Given the description of an element on the screen output the (x, y) to click on. 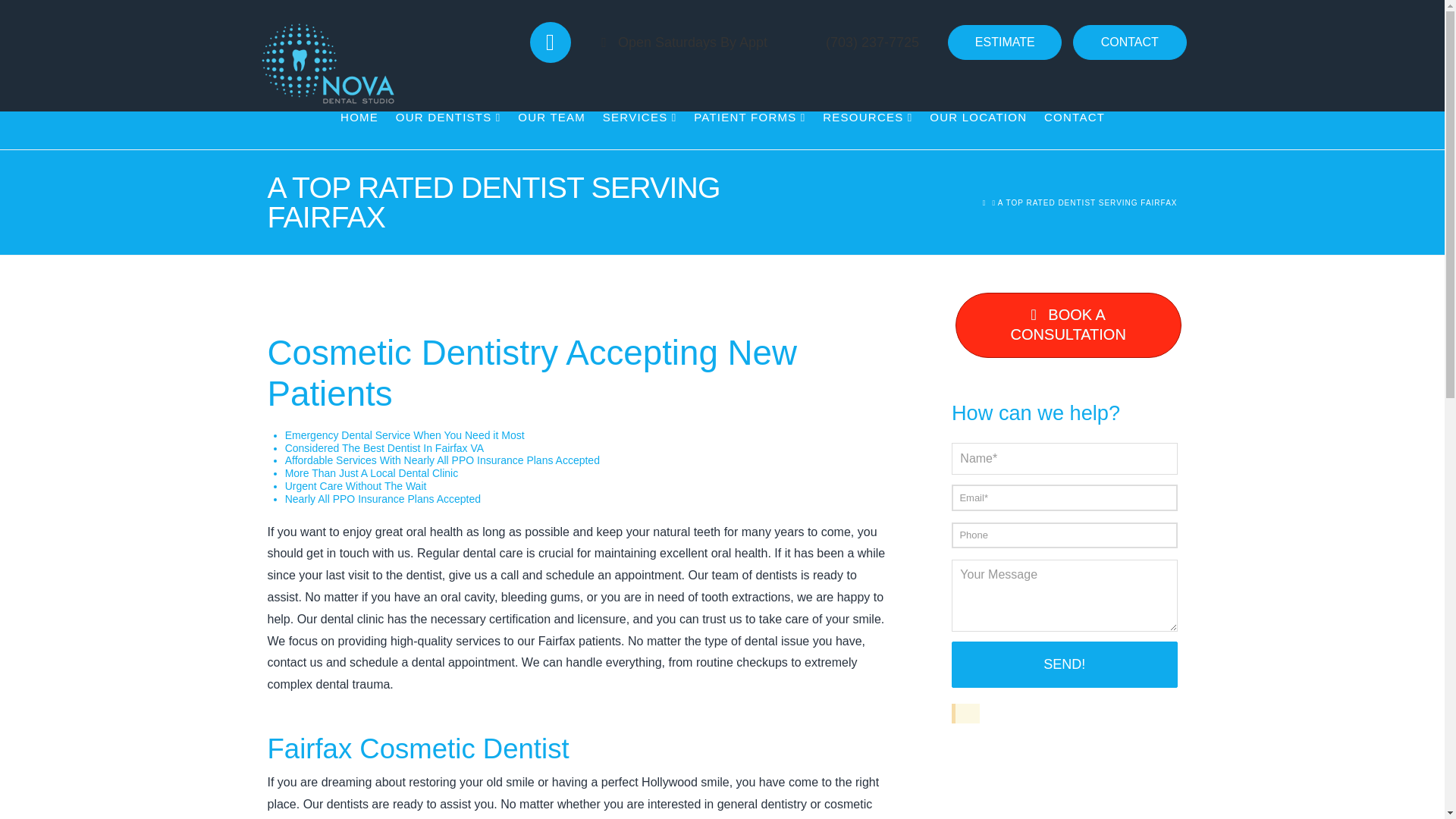
OUR TEAM (551, 130)
Dentistry Services (639, 130)
RESOURCES (866, 130)
PATIENT FORMS (748, 130)
HOME (359, 130)
SERVICES (639, 130)
Facebook (549, 42)
CONTACT (1129, 41)
ESTIMATE (1004, 41)
OUR DENTISTS (447, 130)
Send! (1064, 664)
